Given the description of an element on the screen output the (x, y) to click on. 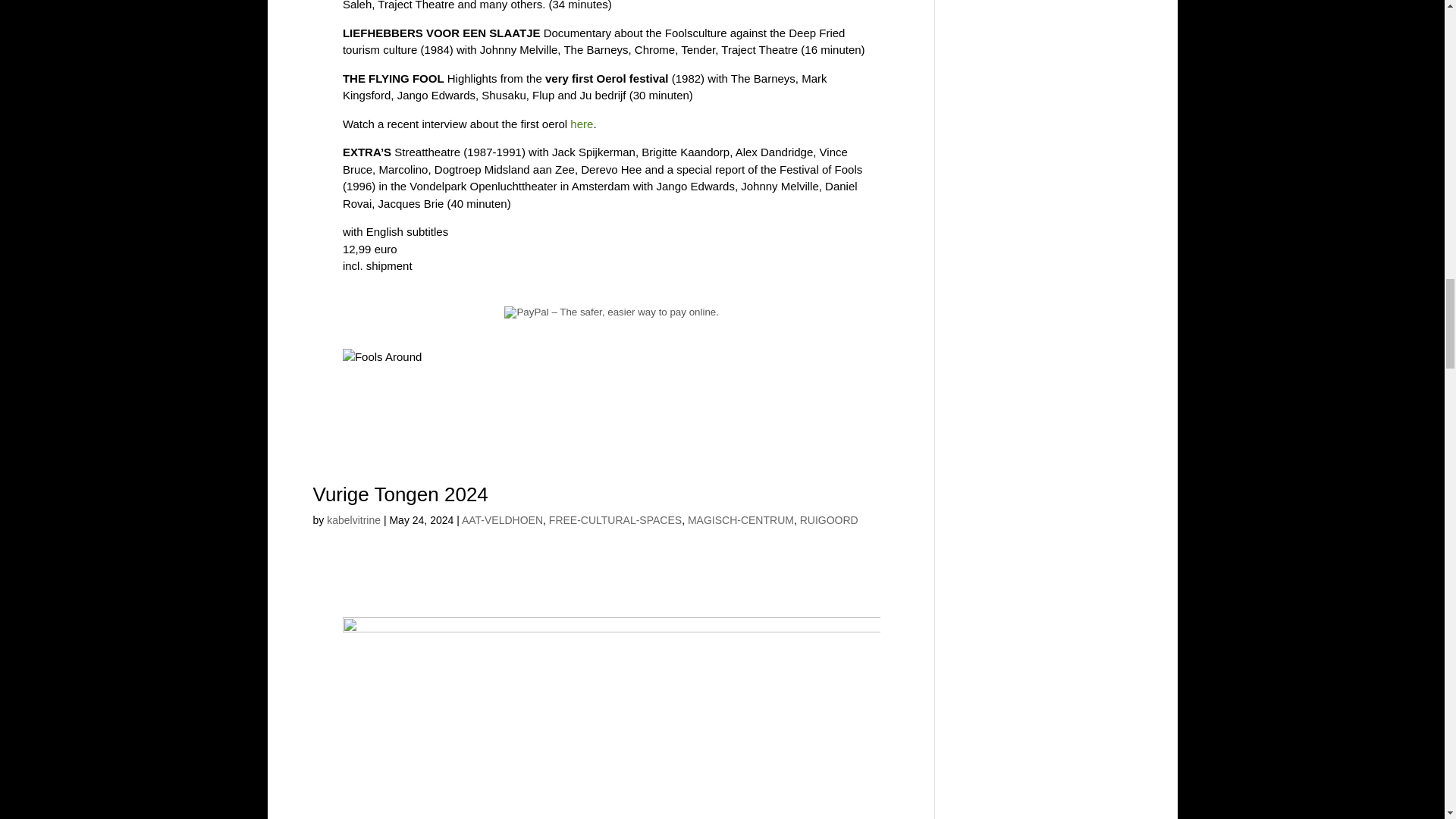
kabelvitrine (353, 520)
FREE-CULTURAL-SPACES (614, 520)
RUIGOORD (829, 520)
Vurige Tongen 2024 (400, 494)
AAT-VELDHOEN (502, 520)
MAGISCH-CENTRUM (740, 520)
Posts by kabelvitrine (353, 520)
aid-24mei2024 (611, 718)
here (581, 123)
